Given the description of an element on the screen output the (x, y) to click on. 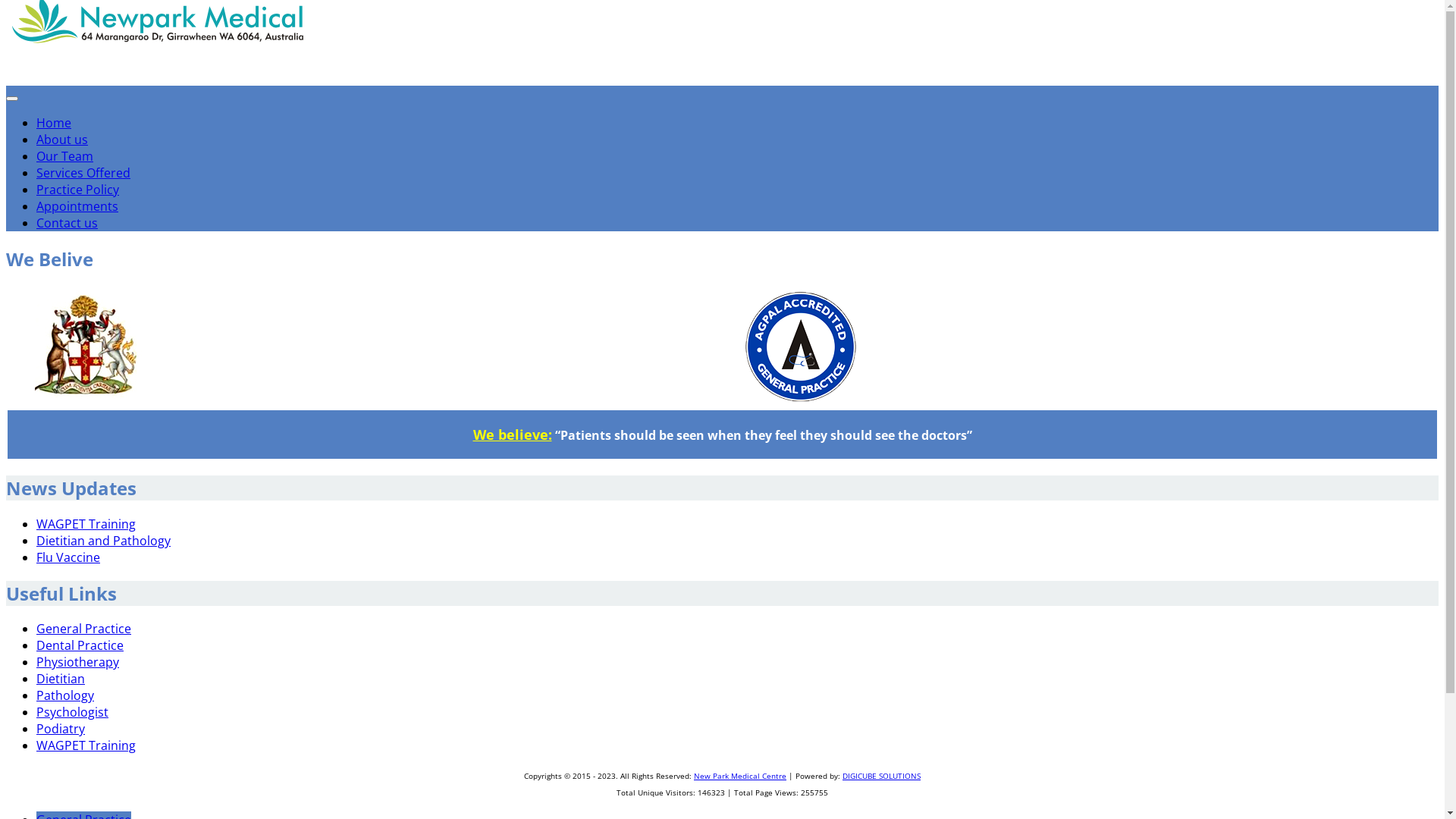
WAGPET Training Element type: text (85, 523)
Dental Practice Element type: text (79, 645)
Dietitian Element type: text (60, 678)
WAGPET Training Element type: text (85, 745)
Our Team Element type: text (64, 155)
Flu Vaccine Element type: text (68, 557)
Services Offered Element type: text (83, 172)
Pathology Element type: text (65, 695)
Appointments Element type: text (77, 205)
DIGICUBE SOLUTIONS Element type: text (881, 775)
Practice Policy Element type: text (77, 189)
New Park Medical Centre Element type: text (158, 81)
Podiatry Element type: text (60, 728)
Psychologist Element type: text (72, 711)
New Park Medical Centre Element type: text (739, 775)
Dietitian and Pathology Element type: text (103, 540)
Contact us Element type: text (66, 222)
Physiotherapy Element type: text (77, 661)
About us Element type: text (61, 139)
General Practice Element type: text (83, 628)
Home Element type: text (53, 122)
